Given the description of an element on the screen output the (x, y) to click on. 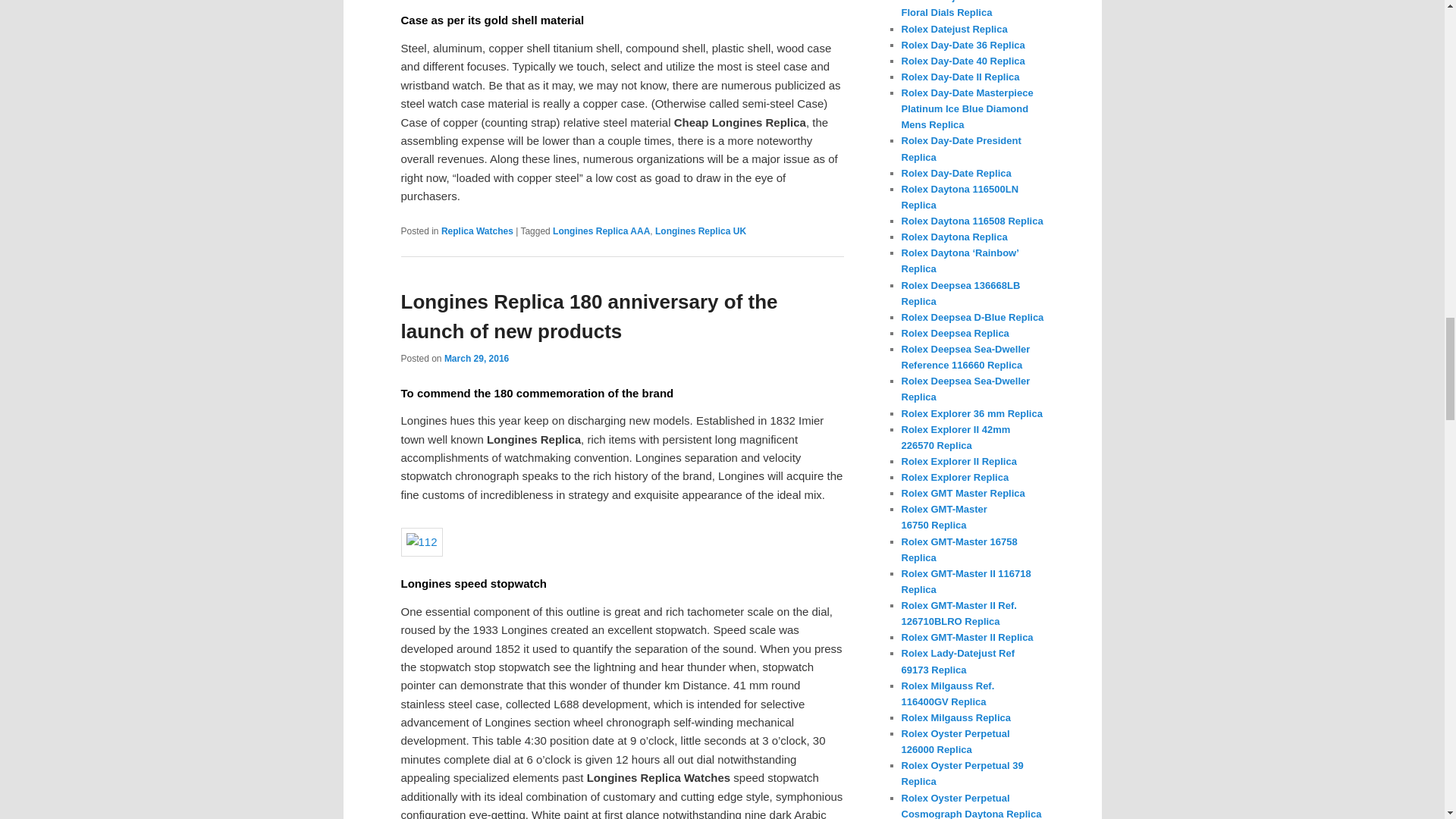
Longines Replica UK (700, 231)
March 29, 2016 (476, 357)
Longines Replica AAA (601, 231)
Replica Watches (477, 231)
